Given the description of an element on the screen output the (x, y) to click on. 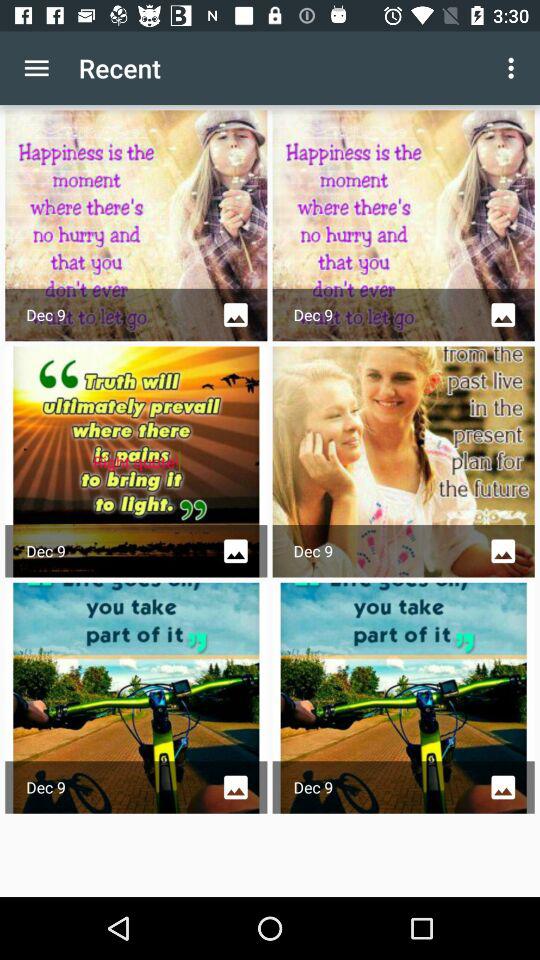
click app next to the recent icon (36, 68)
